Given the description of an element on the screen output the (x, y) to click on. 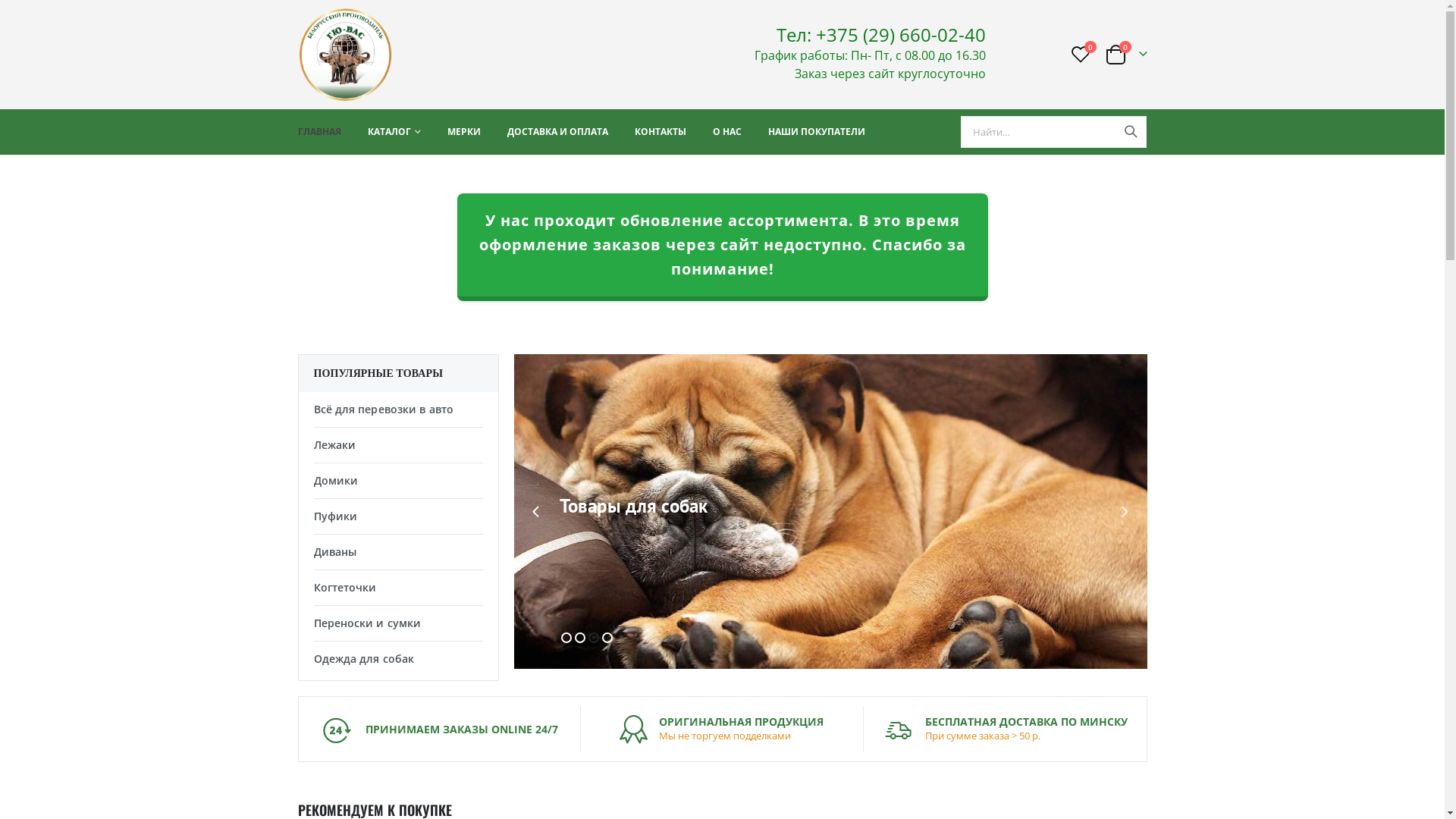
Search Element type: hover (1130, 131)
0 Element type: text (1080, 53)
